Given the description of an element on the screen output the (x, y) to click on. 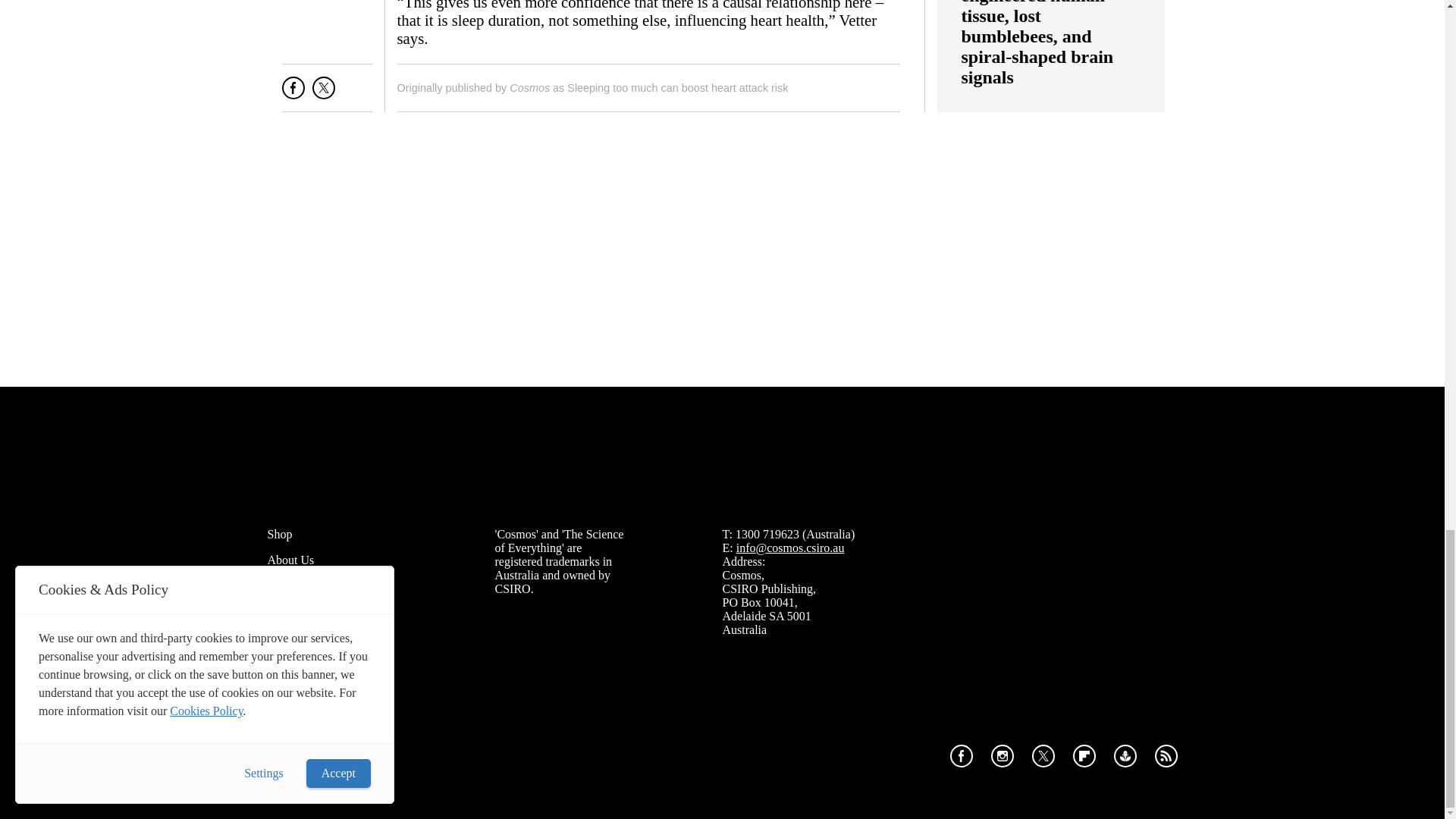
Tweet (323, 93)
Sleeping too much can boost heart attack risk (677, 87)
Share on Facebook (293, 93)
